Given the description of an element on the screen output the (x, y) to click on. 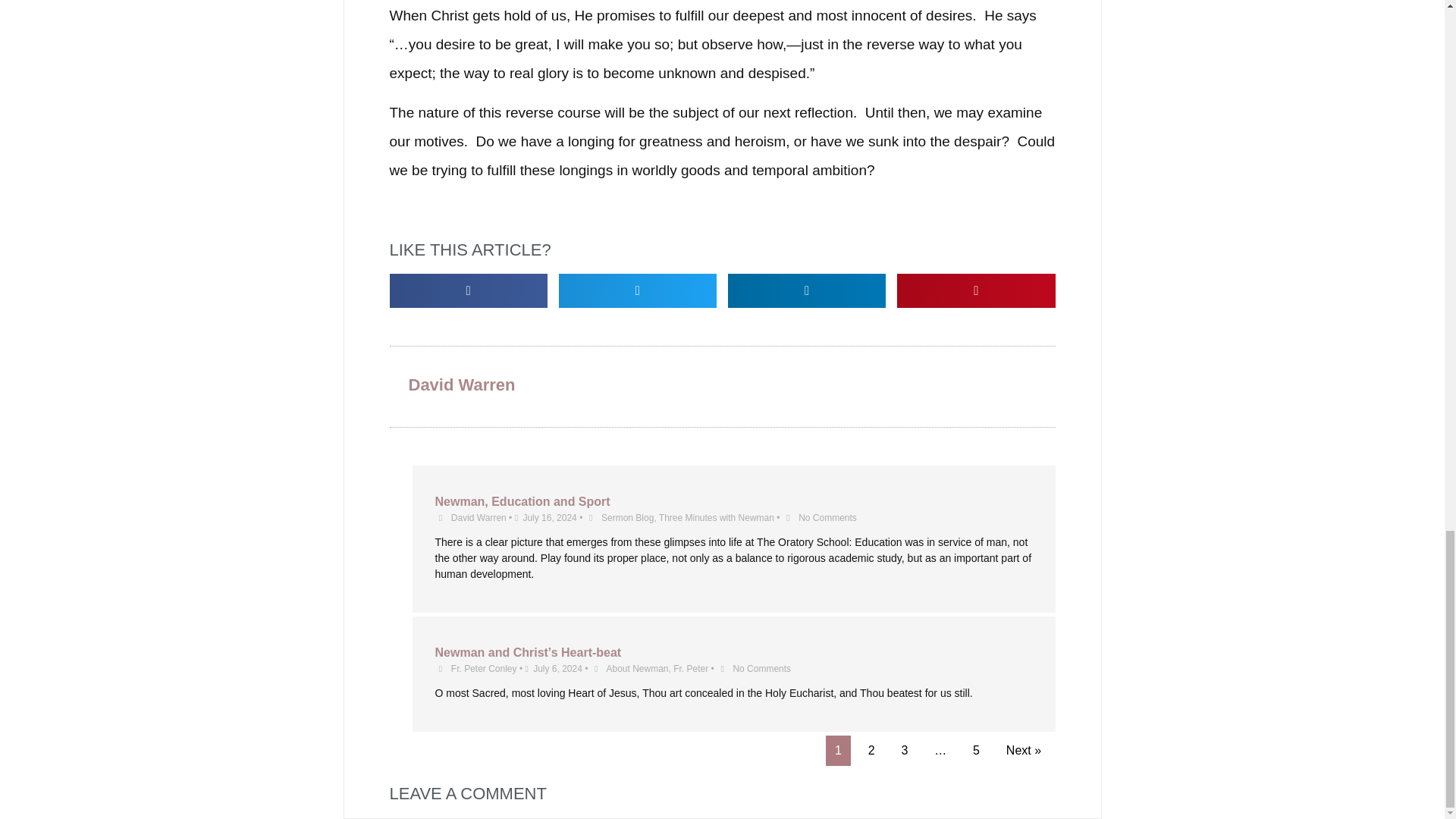
David Warren (478, 517)
Newman, Education and Sport (522, 501)
Posts by David Warren (478, 517)
Posts by Fr. Peter Conley (483, 668)
